Given the description of an element on the screen output the (x, y) to click on. 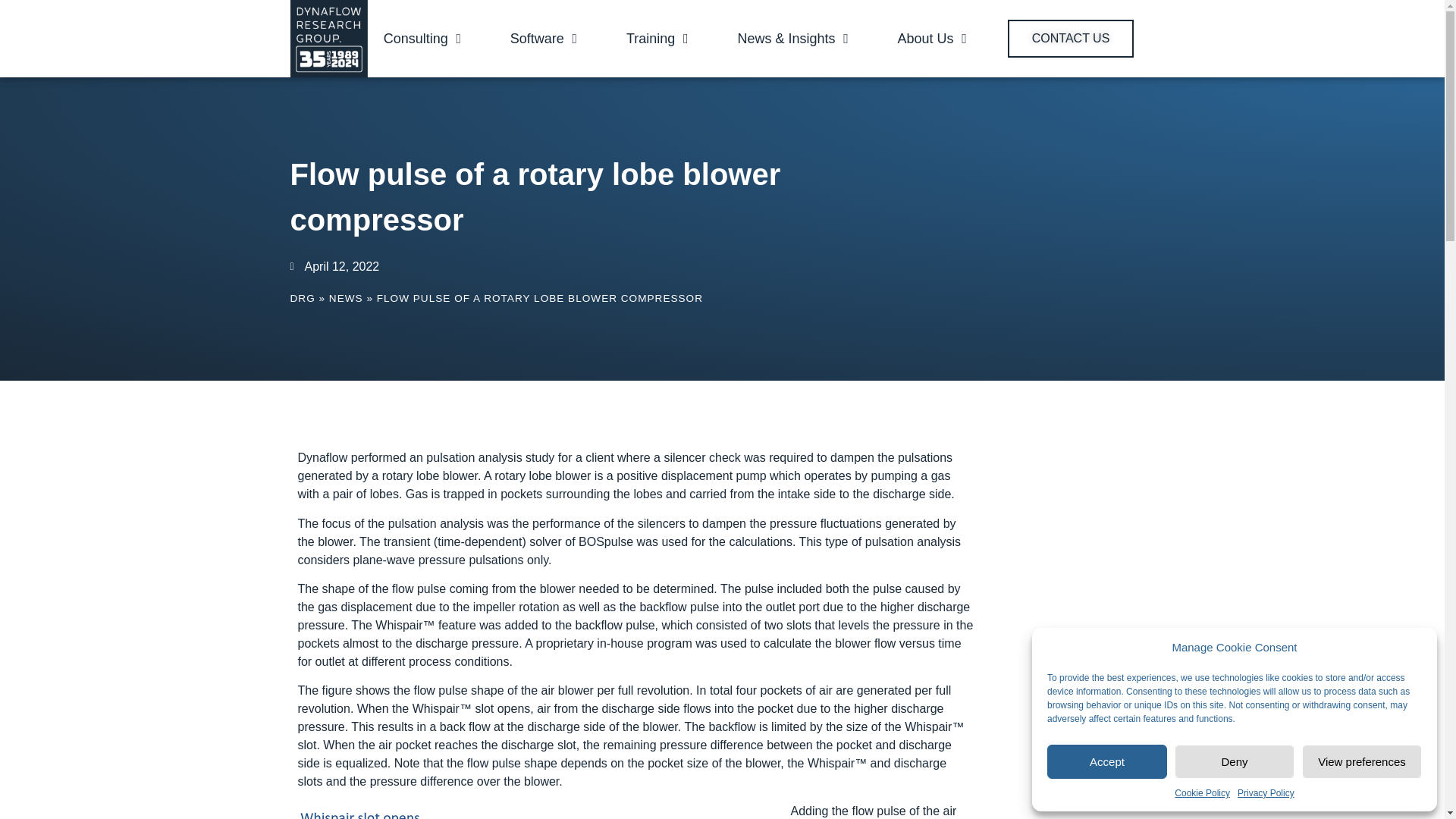
Deny (1234, 761)
Consulting (416, 38)
Cookie Policy (1202, 793)
Accept (1106, 761)
Privacy Policy (1265, 793)
Software (537, 38)
Training (650, 38)
About Us (925, 38)
View preferences (1361, 761)
